Given the description of an element on the screen output the (x, y) to click on. 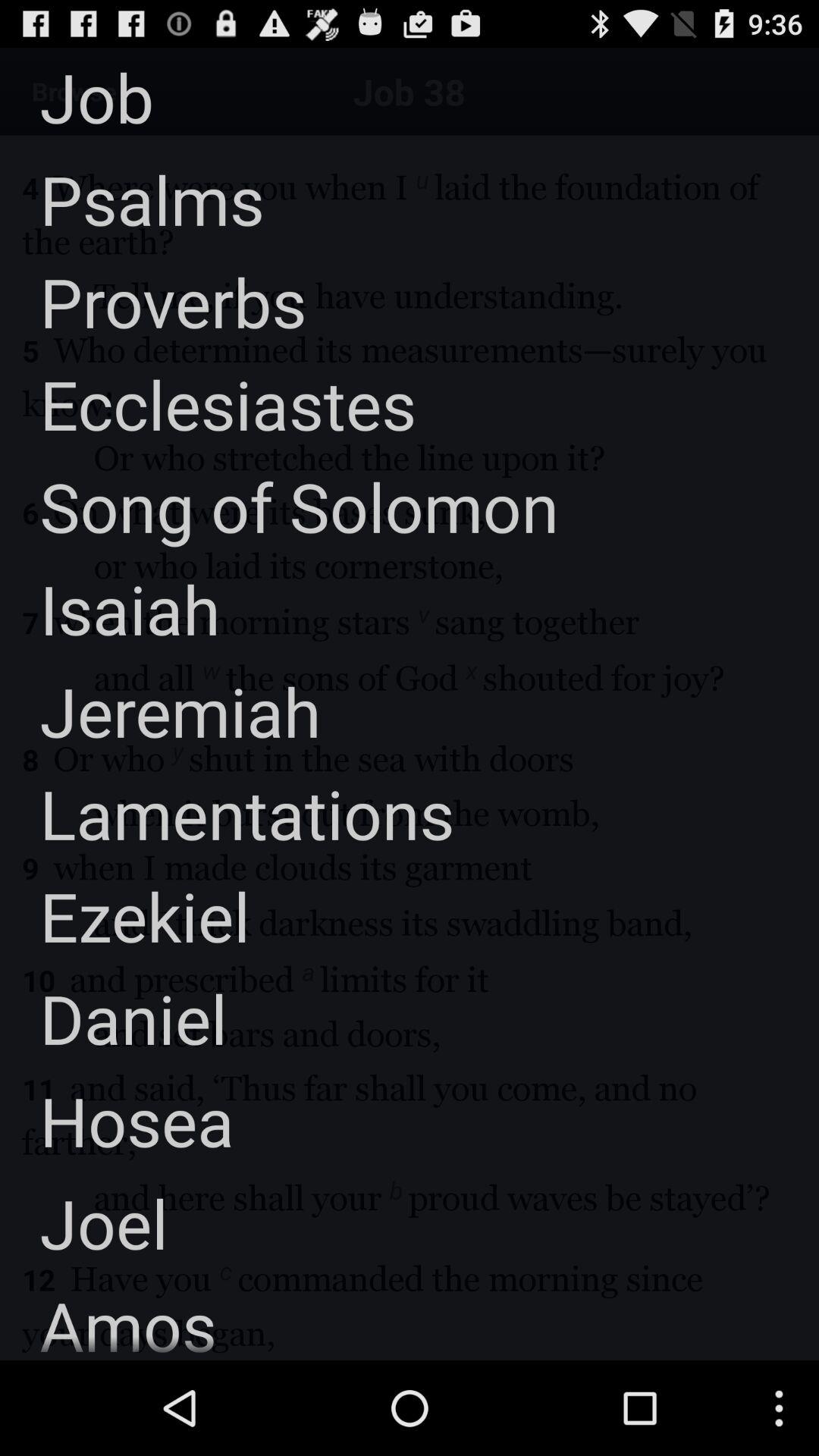
open the ecclesiastes item (208, 403)
